Given the description of an element on the screen output the (x, y) to click on. 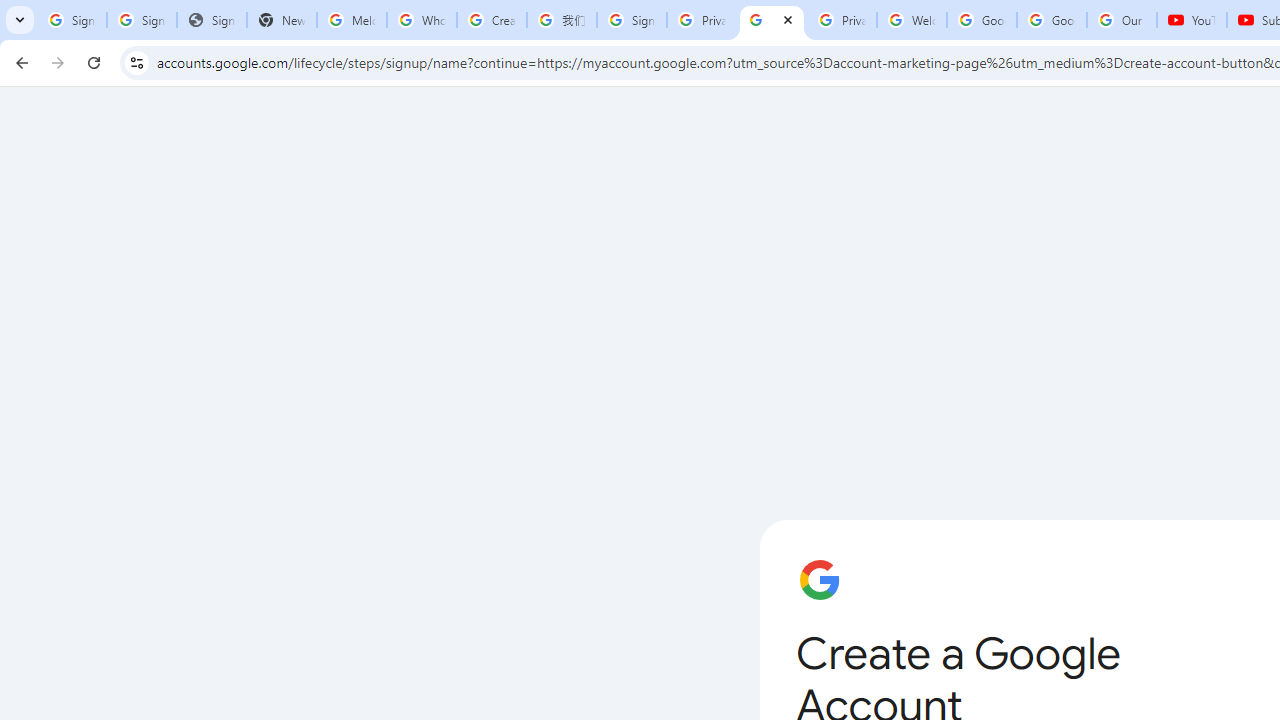
New Tab (282, 20)
Welcome to My Activity (911, 20)
Sign In - USA TODAY (211, 20)
Sign in - Google Accounts (631, 20)
Sign in - Google Accounts (141, 20)
Sign in - Google Accounts (72, 20)
